Given the description of an element on the screen output the (x, y) to click on. 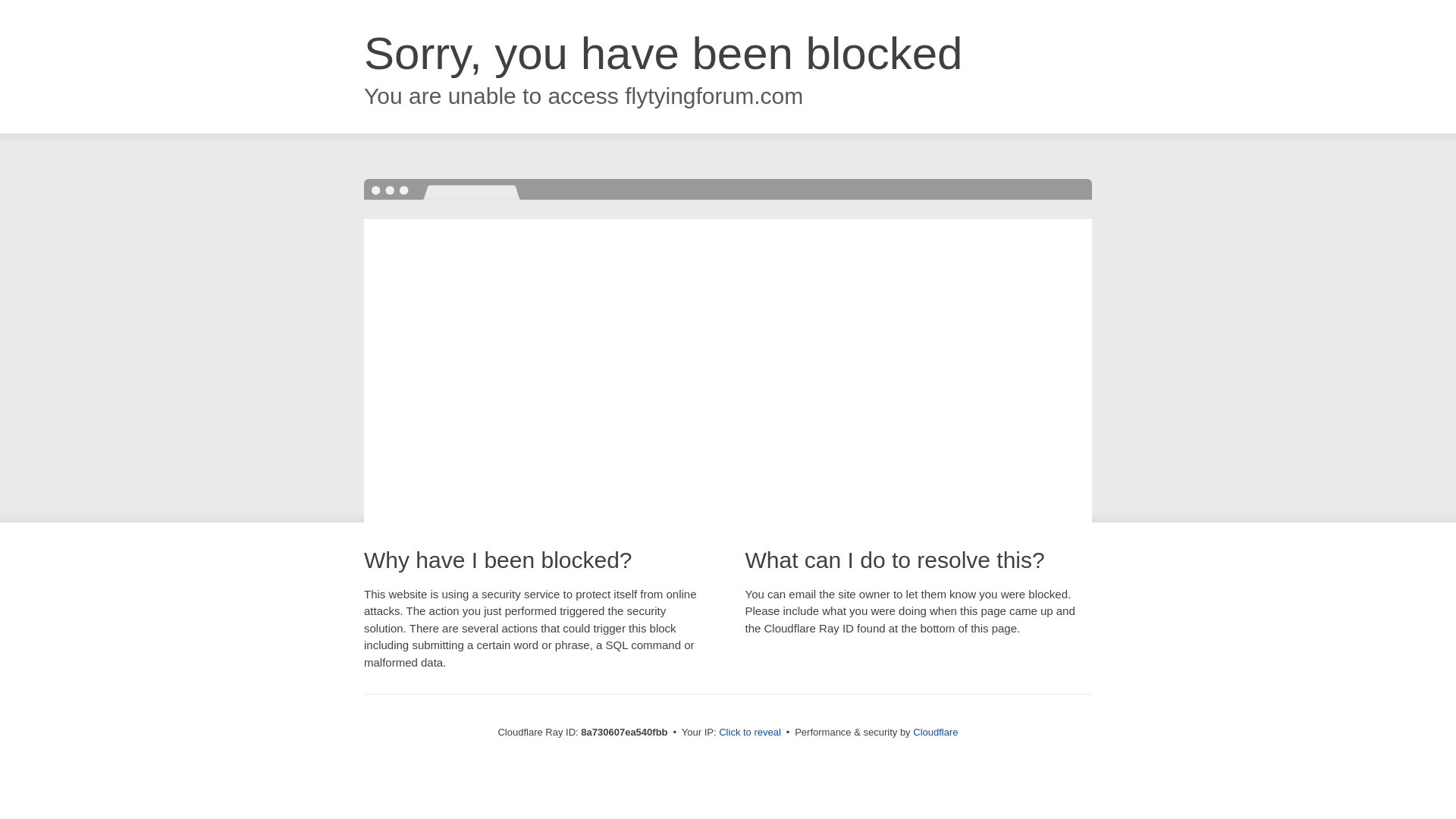
Cloudflare (935, 731)
Click to reveal (749, 732)
